Given the description of an element on the screen output the (x, y) to click on. 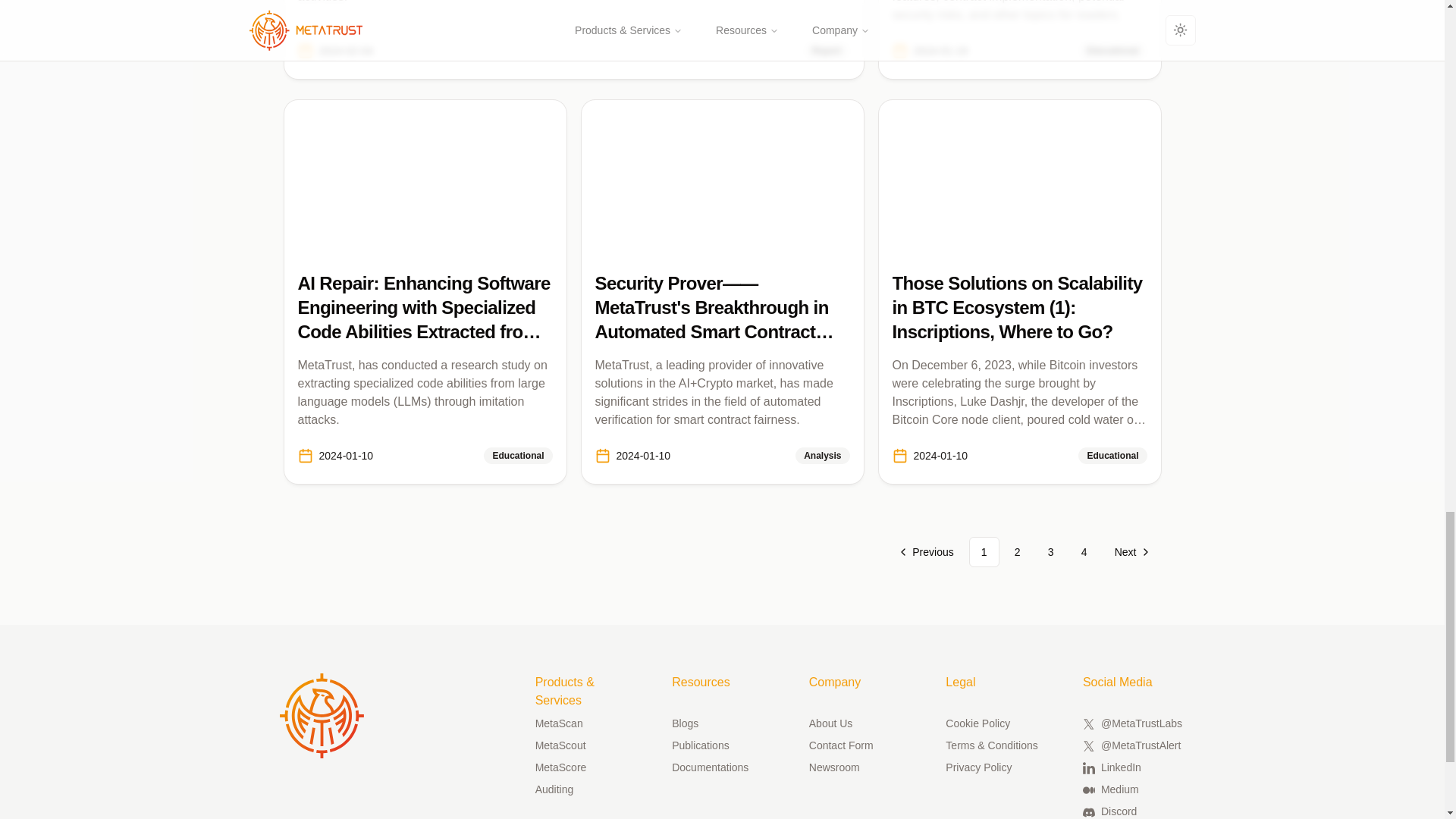
Back to Home (321, 715)
2 (1017, 552)
Previous (927, 552)
3 (1050, 552)
4 (1083, 552)
1 (983, 552)
